Given the description of an element on the screen output the (x, y) to click on. 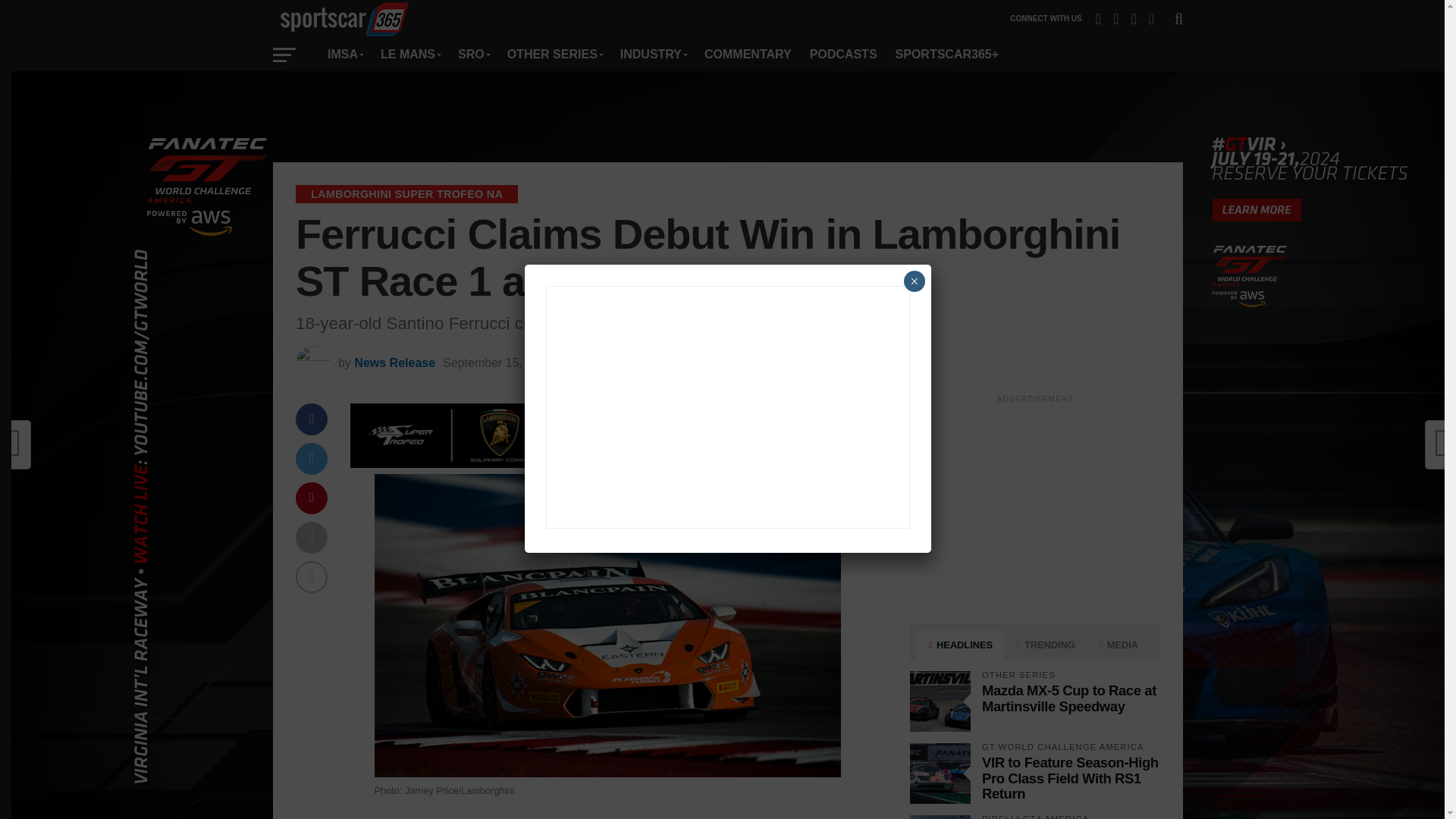
3rd party ad content (727, 116)
Posts by News Release (394, 362)
3rd party ad content (1034, 505)
